Given the description of an element on the screen output the (x, y) to click on. 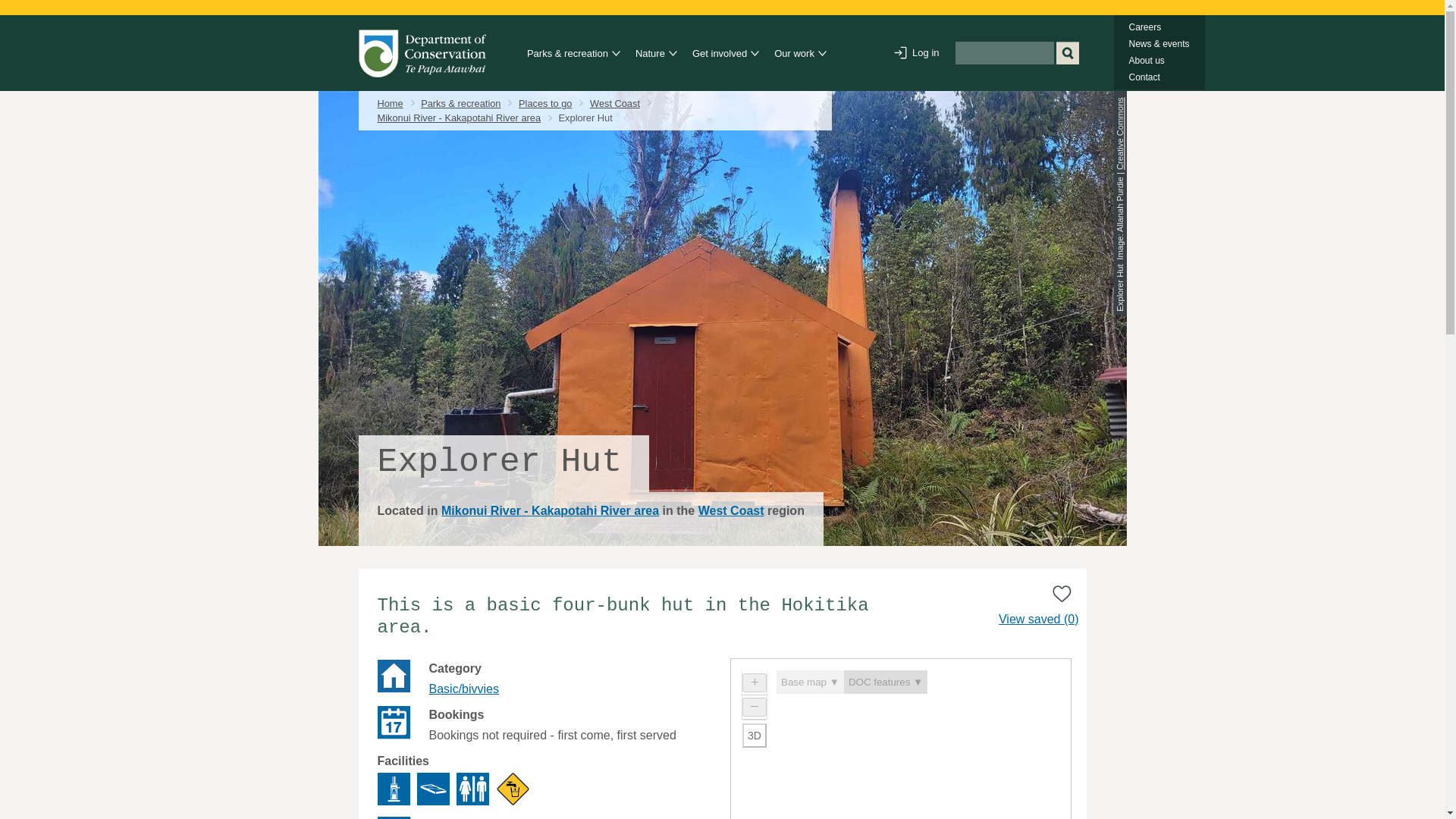
Heating (393, 789)
Nature (651, 53)
Add to wishlist (1061, 592)
Search (1066, 52)
Search (1066, 52)
Toilets - non-flush (473, 789)
Search (1066, 52)
Mattresses (432, 789)
Get involved (722, 53)
Water from tap - not treated, boil before use (512, 789)
